Given the description of an element on the screen output the (x, y) to click on. 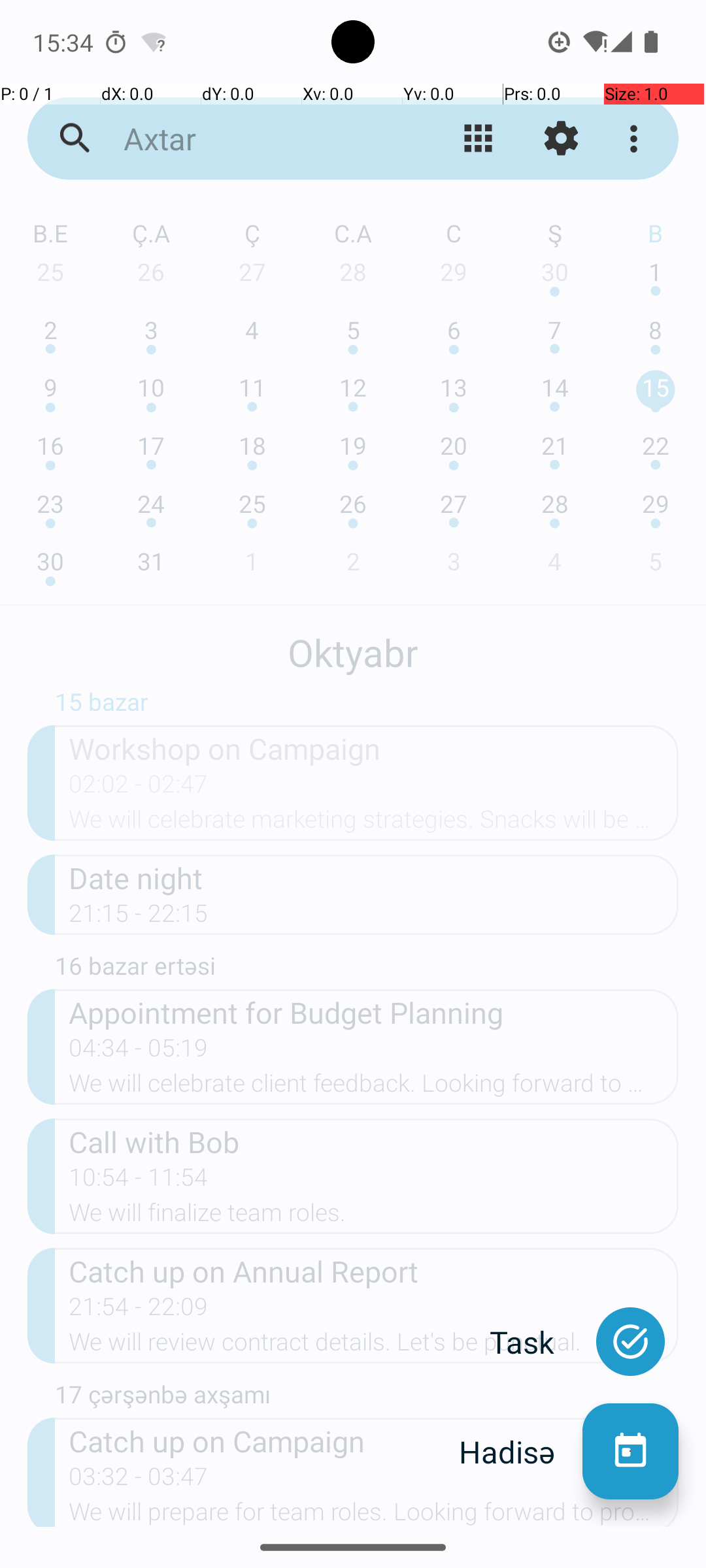
Hadisə Element type: android.widget.TextView (520, 1451)
15 bazar Element type: android.widget.TextView (366, 704)
16 bazar ertəsi Element type: android.widget.TextView (366, 968)
17 çərşənbə axşamı Element type: android.widget.TextView (366, 1397)
02:02 - 02:47 Element type: android.widget.TextView (137, 787)
We will celebrate marketing strategies. Snacks will be provided. Element type: android.widget.TextView (373, 822)
Date night Element type: android.widget.TextView (373, 876)
21:15 - 22:15 Element type: android.widget.TextView (137, 916)
04:34 - 05:19 Element type: android.widget.TextView (137, 1051)
We will celebrate client feedback. Looking forward to productive discussions. Element type: android.widget.TextView (373, 1086)
10:54 - 11:54 Element type: android.widget.TextView (137, 1180)
We will finalize team roles. Element type: android.widget.TextView (373, 1216)
21:54 - 22:09 Element type: android.widget.TextView (137, 1310)
We will review contract details. Let's be punctual. Element type: android.widget.TextView (373, 1345)
03:32 - 03:47 Element type: android.widget.TextView (137, 1480)
We will prepare for team roles. Looking forward to productive discussions. Element type: android.widget.TextView (373, 1512)
